Given the description of an element on the screen output the (x, y) to click on. 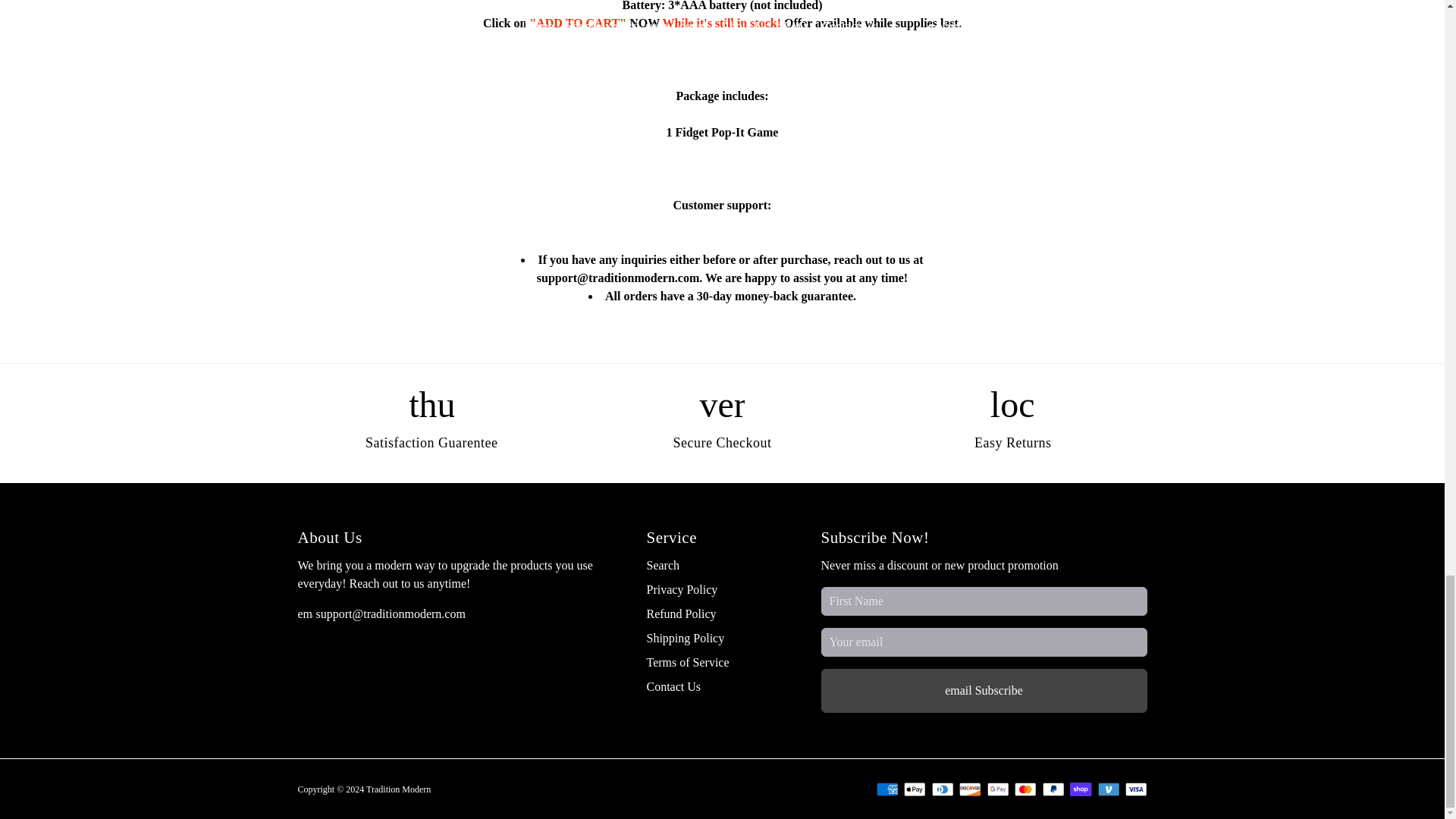
Mastercard (1025, 789)
Discover (970, 789)
Diners Club (941, 789)
PayPal (1052, 789)
Google Pay (998, 789)
Apple Pay (915, 789)
Venmo (1108, 789)
Shop Pay (1081, 789)
American Express (887, 789)
